Given the description of an element on the screen output the (x, y) to click on. 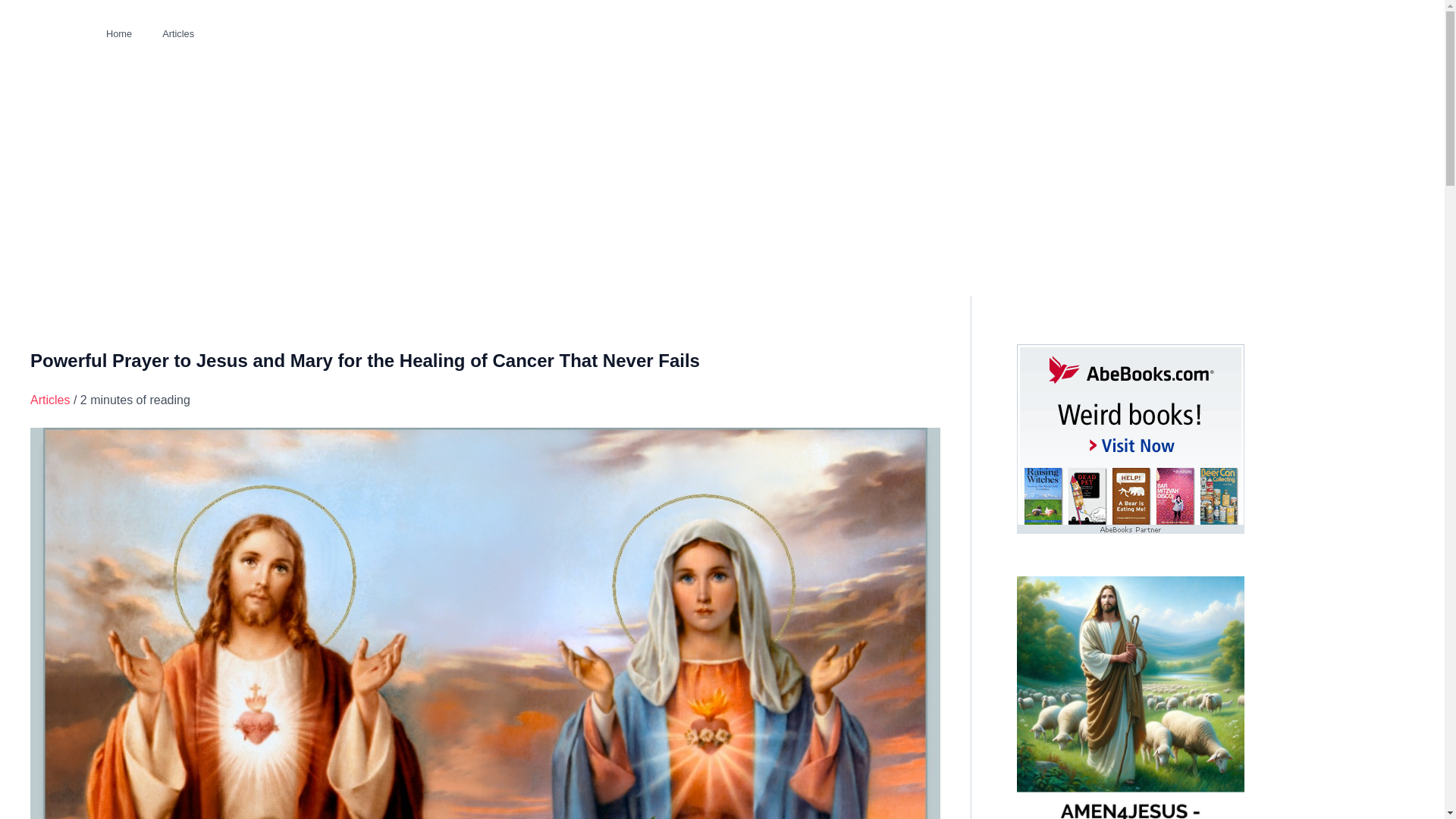
Articles (49, 399)
Articles (178, 33)
